Given the description of an element on the screen output the (x, y) to click on. 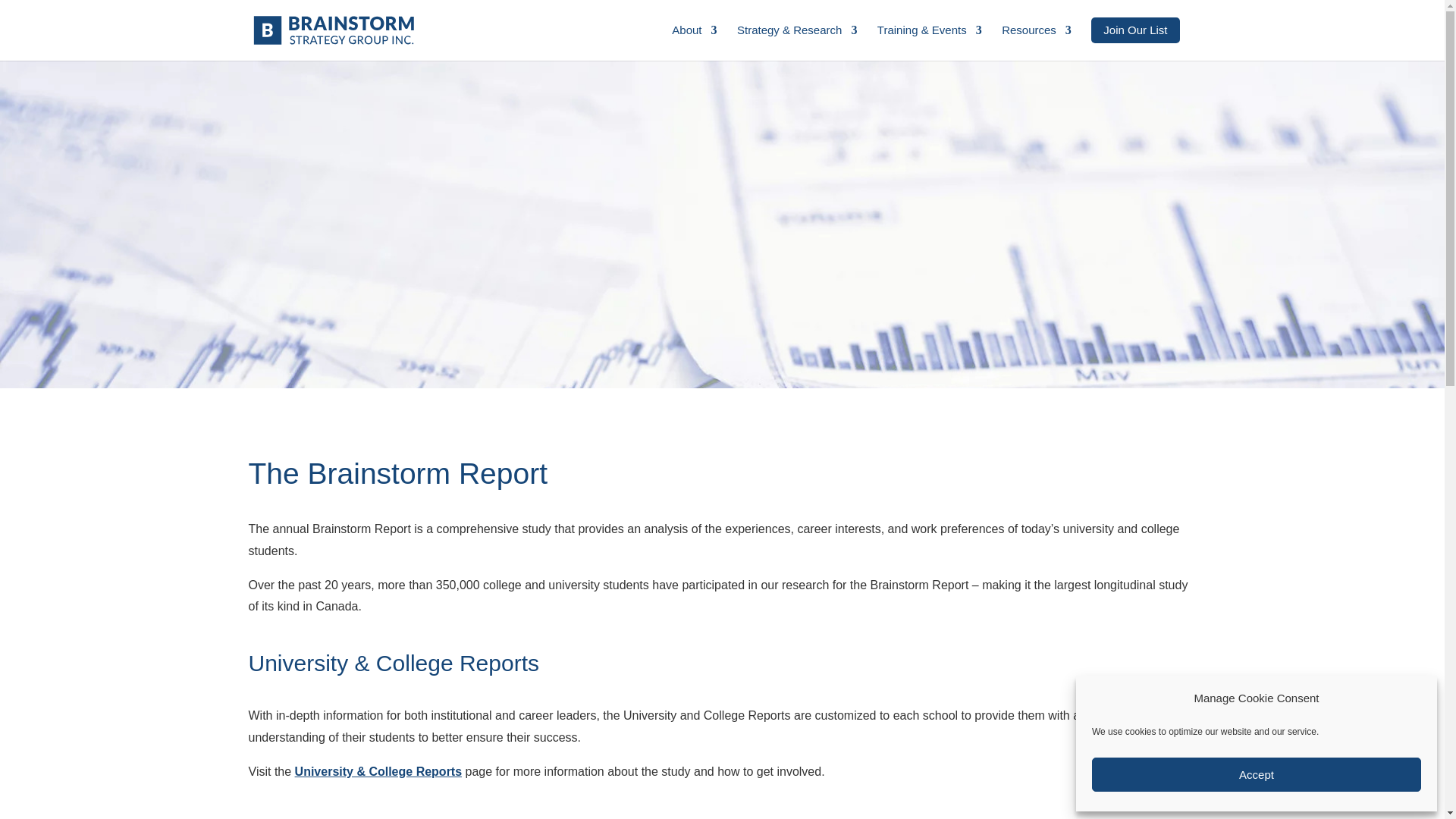
Accept (1256, 774)
Resources (1036, 42)
About (693, 42)
Join Our List (1134, 30)
